Given the description of an element on the screen output the (x, y) to click on. 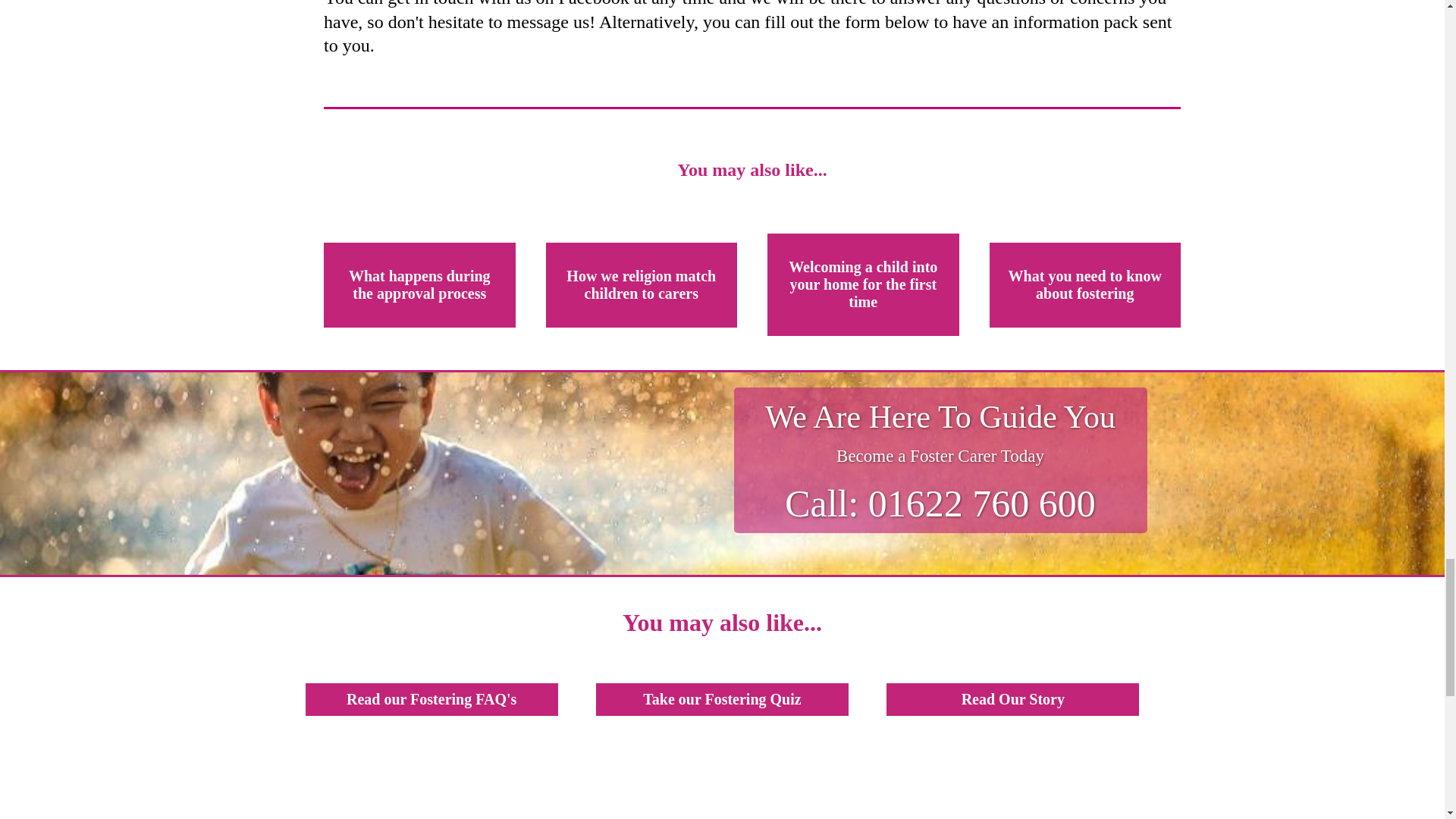
Read Our Story (1012, 699)
What happens during the approval process (419, 284)
What you need to know about fostering (1084, 284)
How we religion match children to carers (642, 284)
Welcoming a child into your home for the first time (863, 284)
Read our Fostering FAQ's (430, 699)
Take our Fostering Quiz (721, 699)
